Given the description of an element on the screen output the (x, y) to click on. 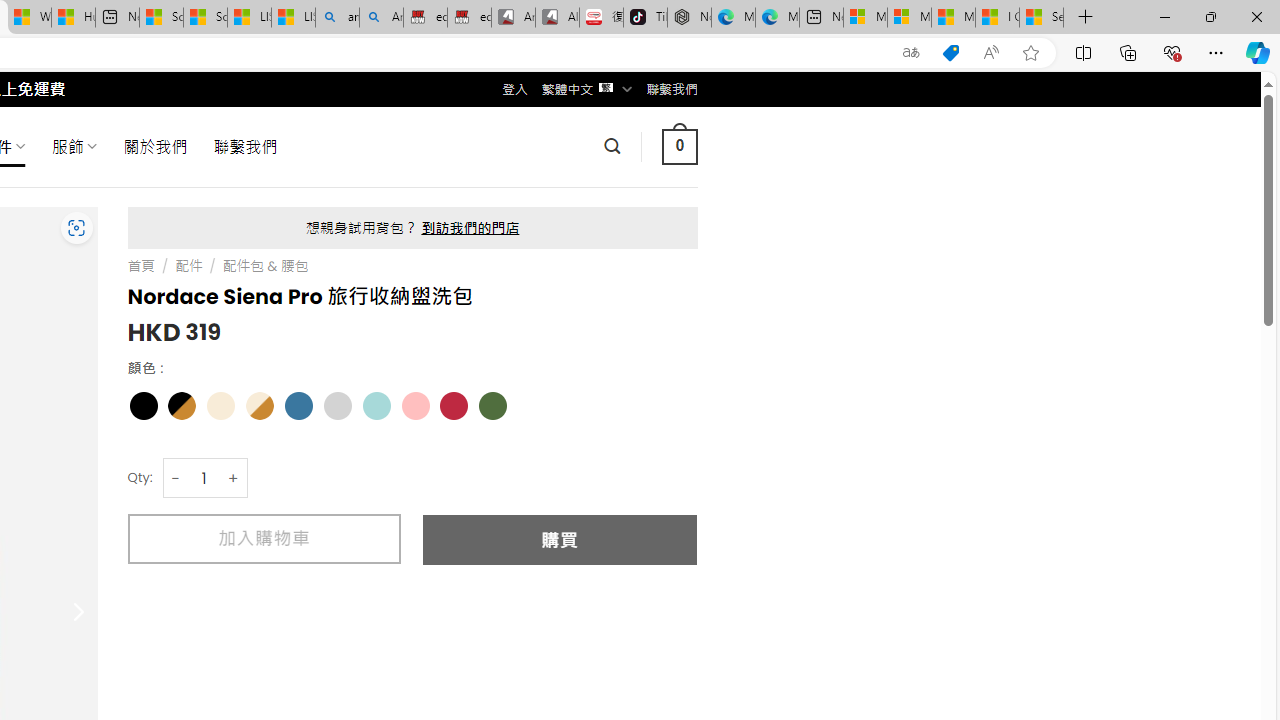
All Cubot phones (557, 17)
Settings and more (Alt+F) (1215, 52)
Read aloud this page (Ctrl+Shift+U) (991, 53)
TikTok (644, 17)
Copilot (Ctrl+Shift+.) (1258, 52)
Show translate options (910, 53)
Add this page to favorites (Ctrl+D) (1030, 53)
